Given the description of an element on the screen output the (x, y) to click on. 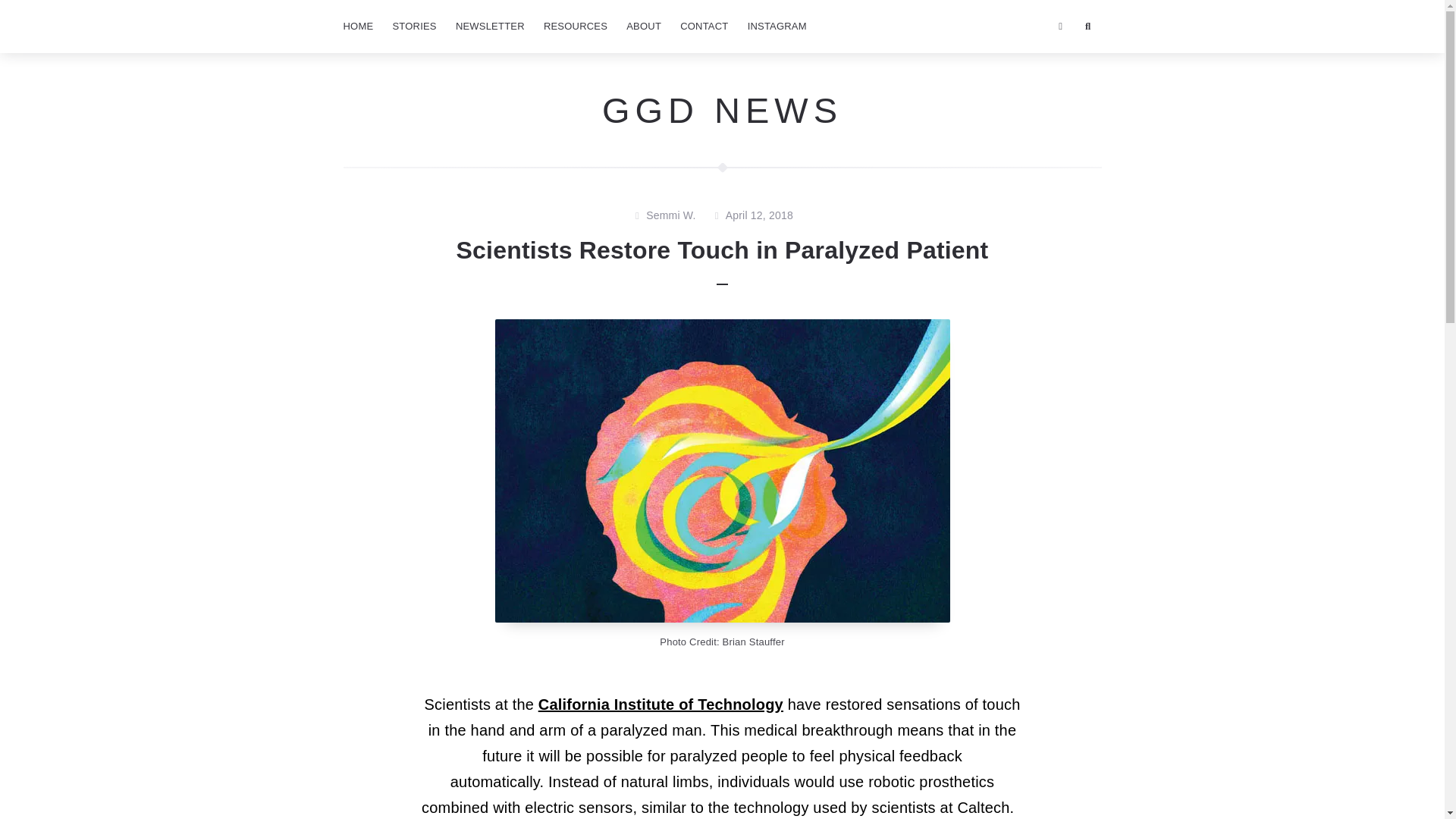
ABOUT (643, 26)
STORIES (413, 26)
April 12, 2018 (759, 216)
CONTACT (703, 26)
HOME (357, 26)
California Institute of Technology (660, 704)
GGD NEWS (722, 110)
NEWSLETTER (490, 26)
Semmi W. (670, 216)
INSTAGRAM (776, 26)
